Given the description of an element on the screen output the (x, y) to click on. 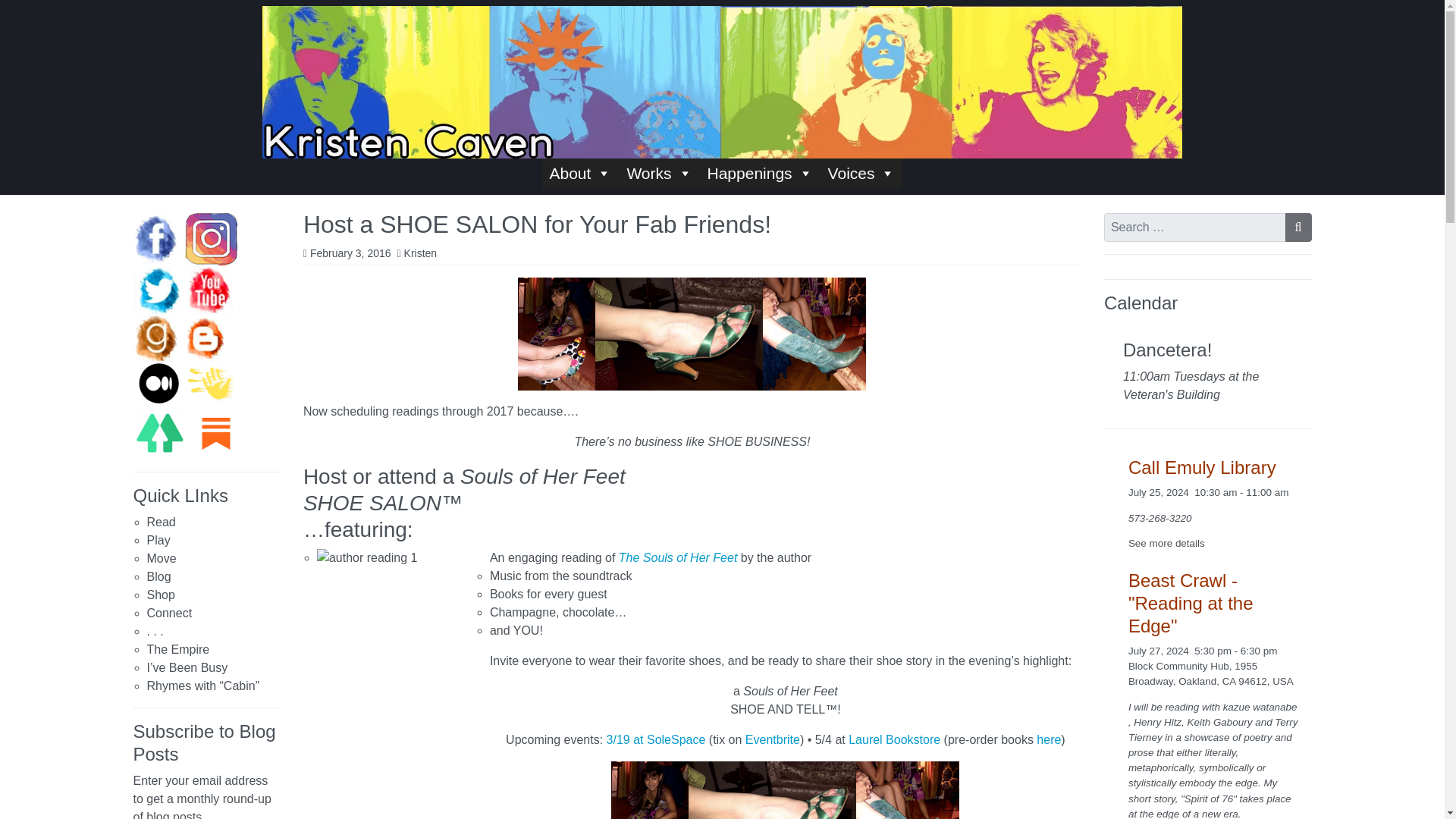
Happenings (760, 173)
Skip to content (17, 14)
Works (658, 173)
About (579, 173)
